Given the description of an element on the screen output the (x, y) to click on. 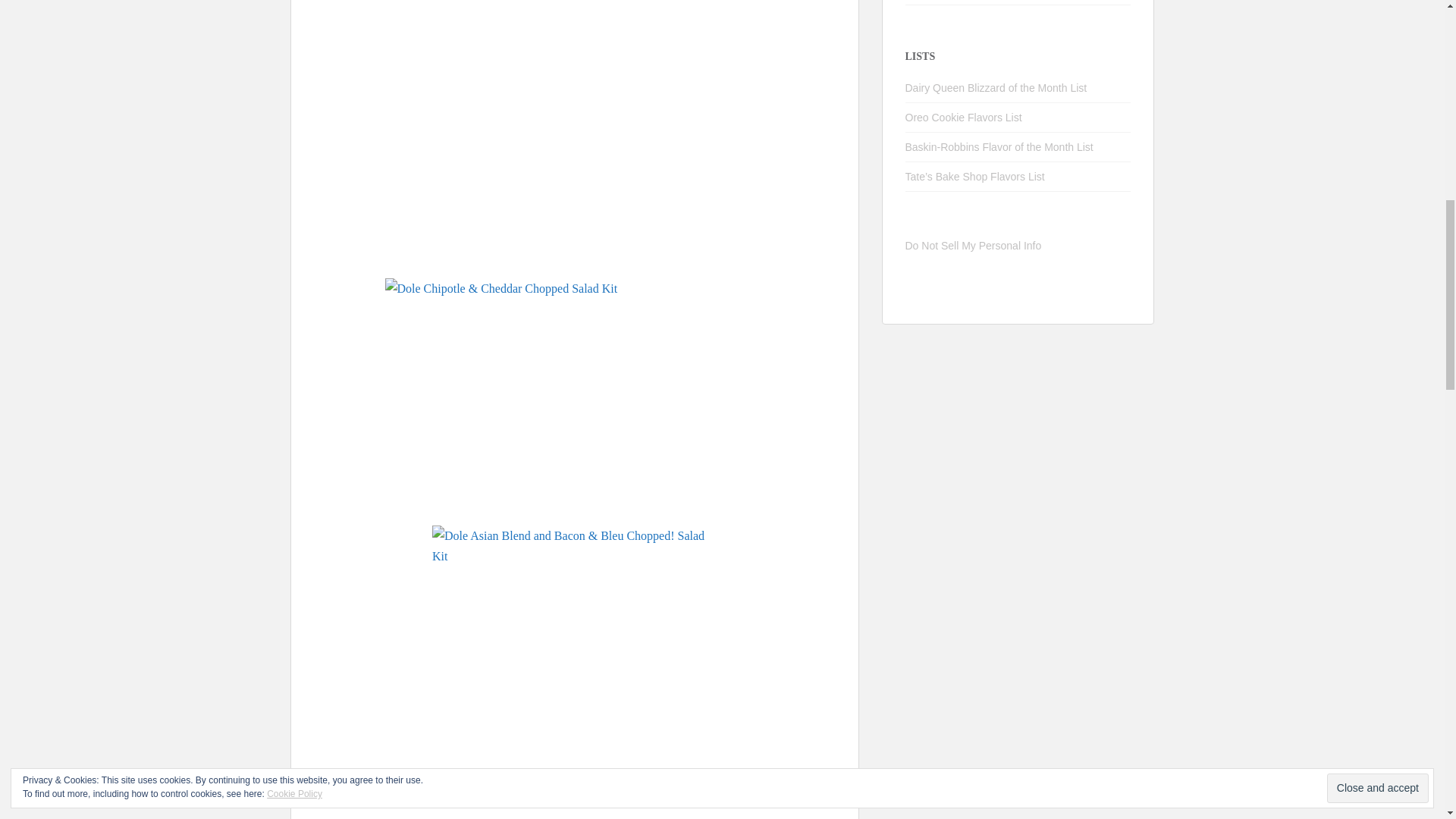
View 'Dole BBQ Ranch Chopped! Salad Kit' on Flickr.com (575, 135)
Dole BBQ Ranch Chopped! Salad Kit (574, 135)
